Given the description of an element on the screen output the (x, y) to click on. 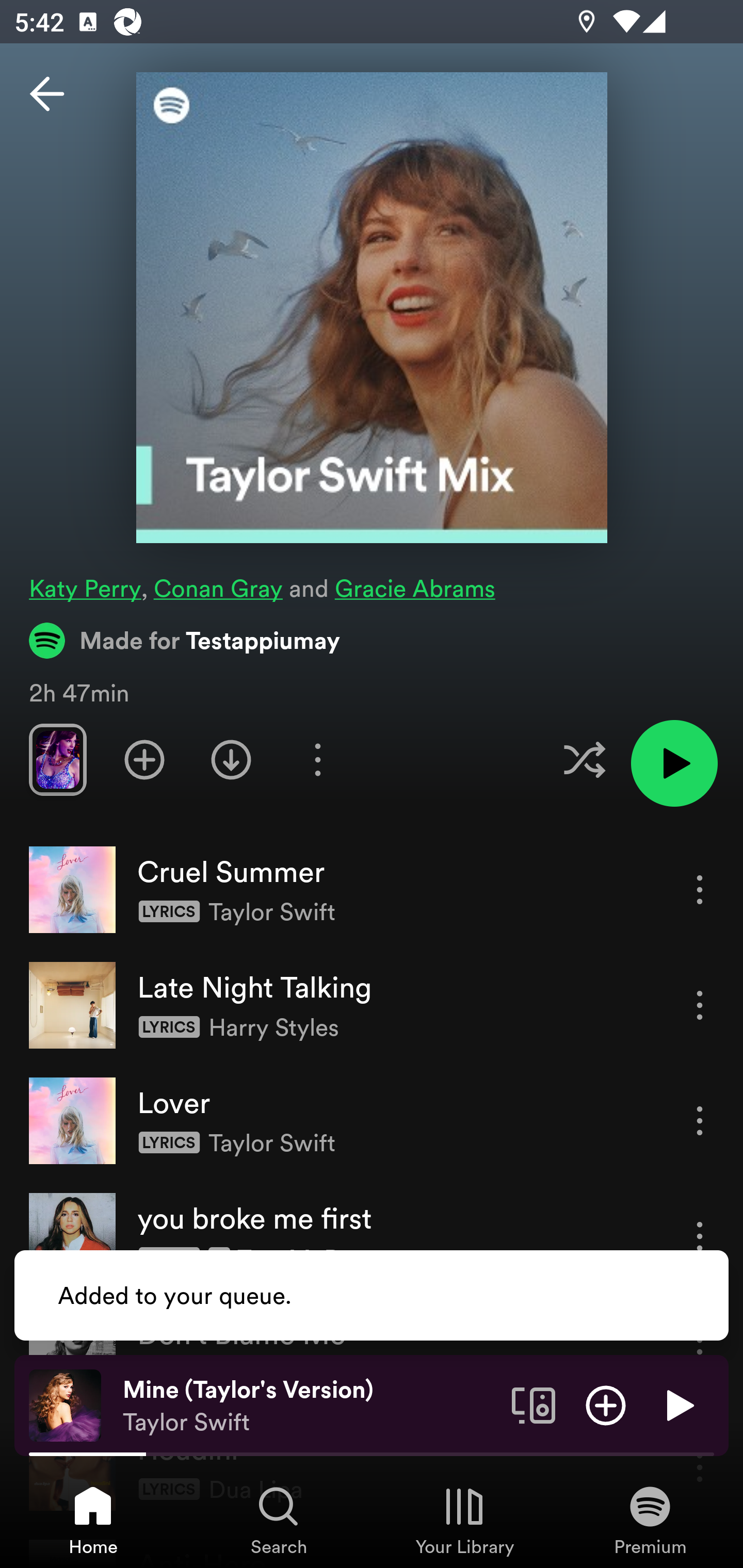
Back (46, 93)
Made for Testappiumay (184, 640)
Add playlist to Your Library (144, 759)
Download (230, 759)
More options for playlist Taylor Swift Mix (317, 759)
Enable shuffle for this playlist (583, 759)
Play playlist (674, 763)
More options for song Cruel Summer (699, 889)
More options for song Late Night Talking (699, 1004)
More options for song Lover (699, 1120)
More options for song you broke me first (699, 1236)
Mine (Taylor's Version) Taylor Swift (309, 1405)
The cover art of the currently playing track (64, 1404)
Connect to a device. Opens the devices menu (533, 1404)
Add item (605, 1404)
Play (677, 1404)
Home, Tab 1 of 4 Home Home (92, 1519)
Search, Tab 2 of 4 Search Search (278, 1519)
Your Library, Tab 3 of 4 Your Library Your Library (464, 1519)
Premium, Tab 4 of 4 Premium Premium (650, 1519)
